Given the description of an element on the screen output the (x, y) to click on. 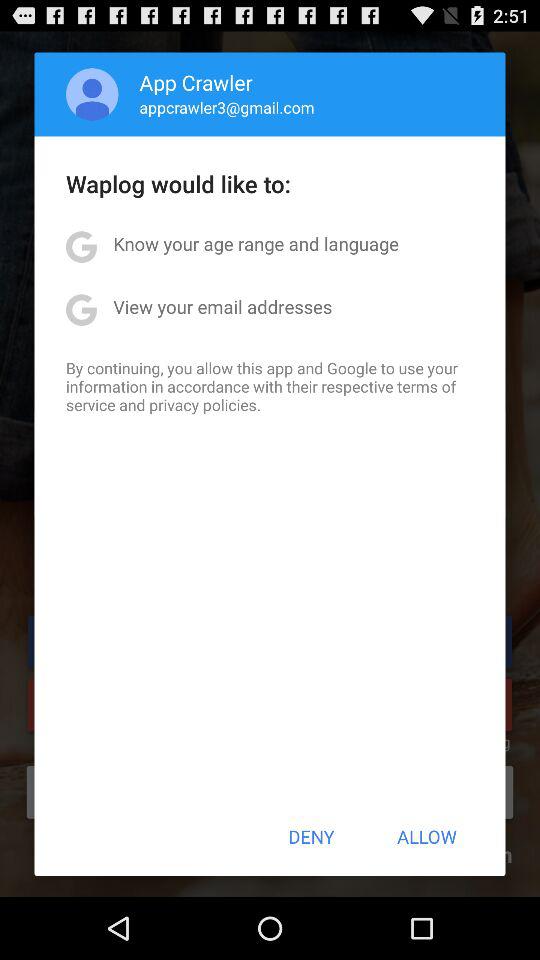
turn off the know your age app (255, 243)
